Given the description of an element on the screen output the (x, y) to click on. 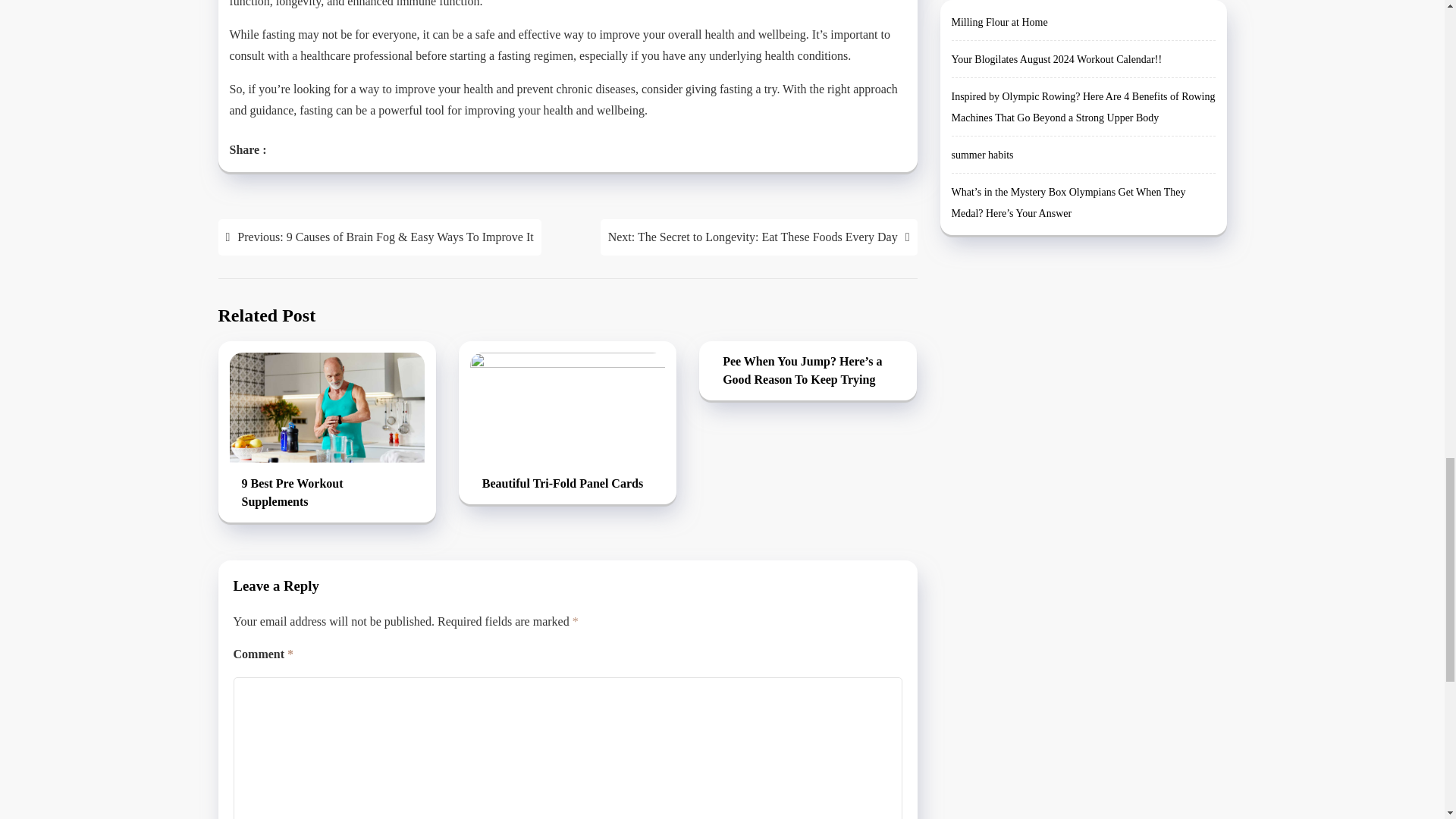
Next: The Secret to Longevity: Eat These Foods Every Day (758, 237)
Beautiful Tri-Fold Panel Cards (566, 484)
9 Best Pre Workout Supplements (326, 493)
